Given the description of an element on the screen output the (x, y) to click on. 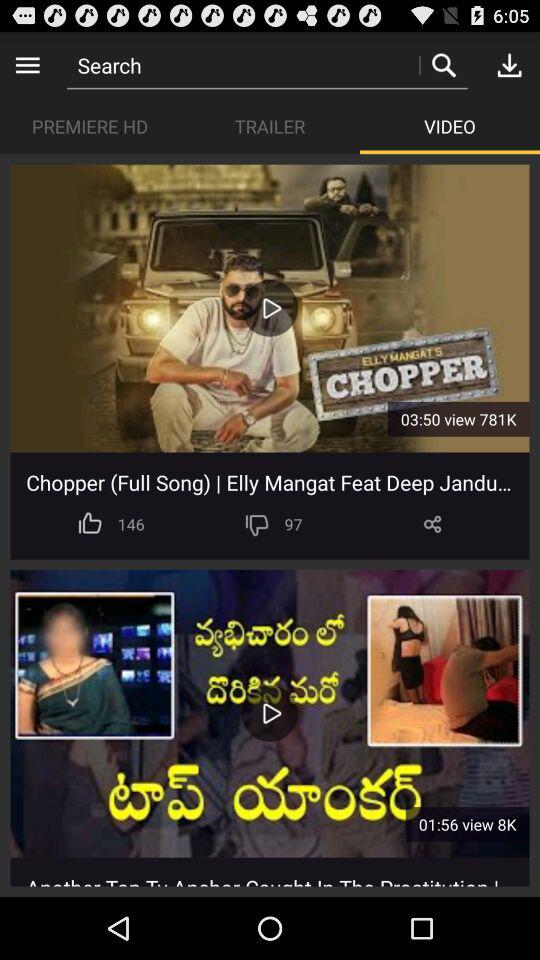
launch the item next to the 146 item (256, 523)
